Given the description of an element on the screen output the (x, y) to click on. 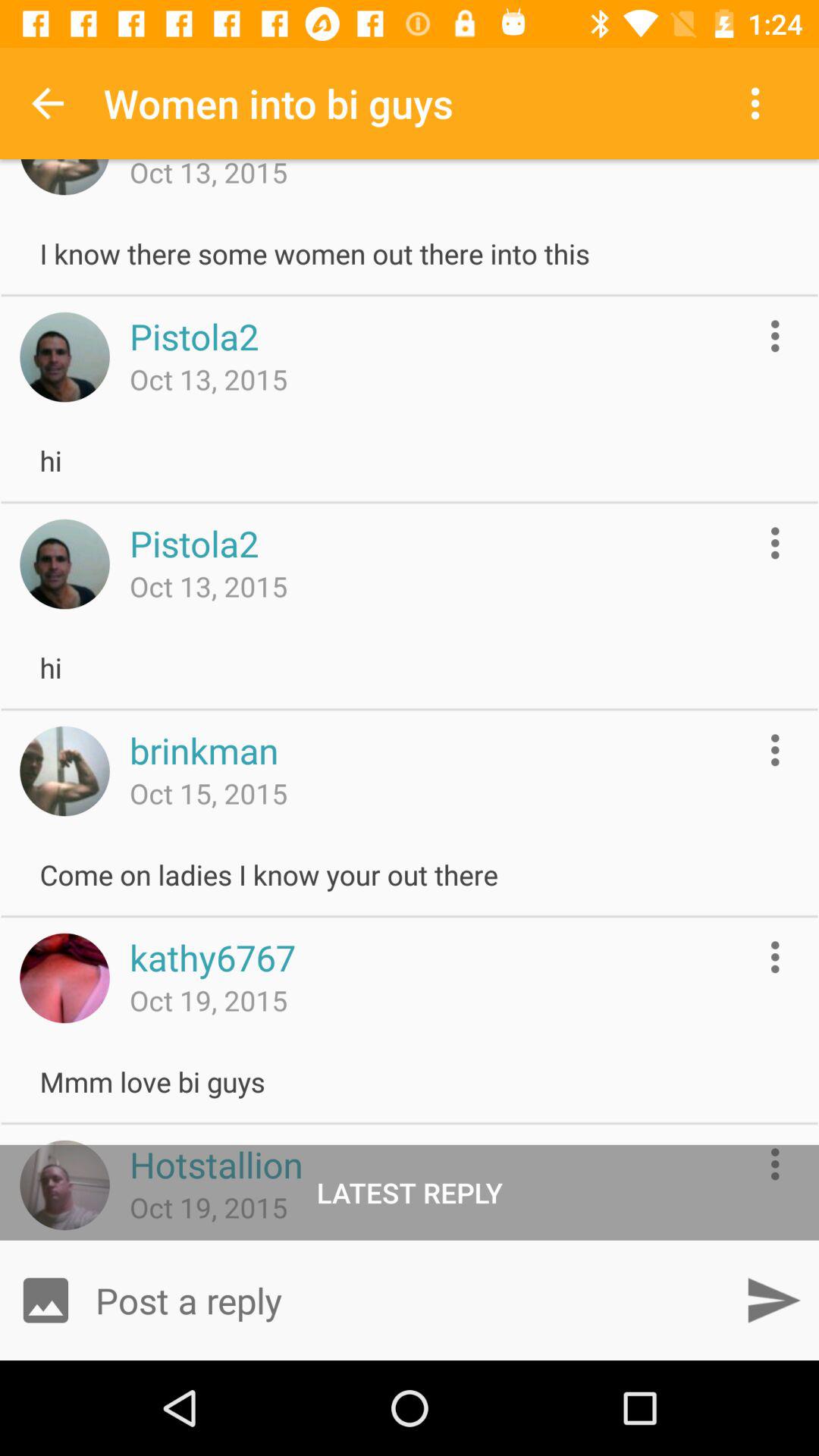
launch the item below latest reply (773, 1300)
